Given the description of an element on the screen output the (x, y) to click on. 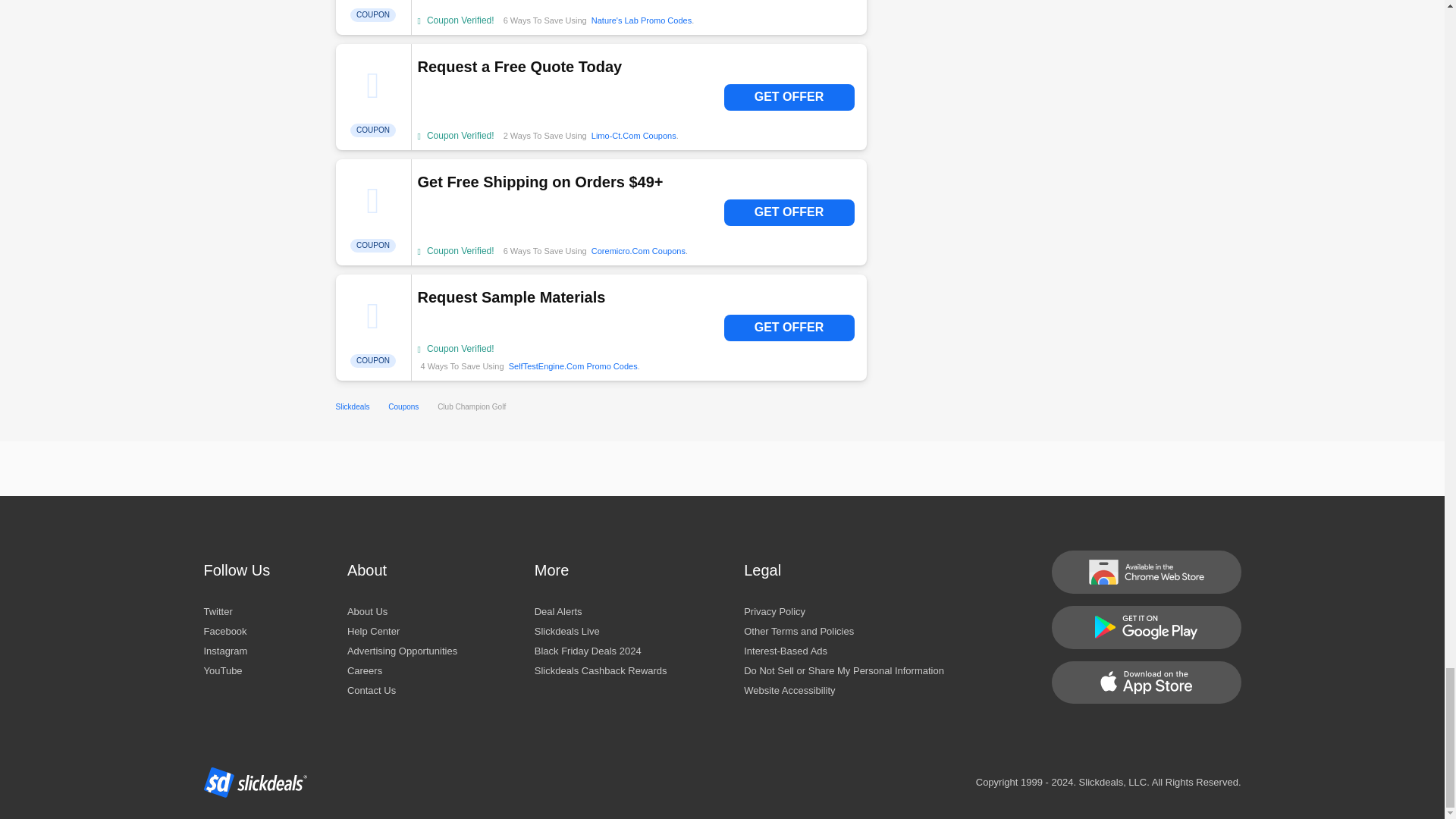
Install the Slickdeals iOS App (1145, 681)
Install the Slickdeals Extension (1145, 571)
Install the Slickdeals Android App (1145, 627)
